Given the description of an element on the screen output the (x, y) to click on. 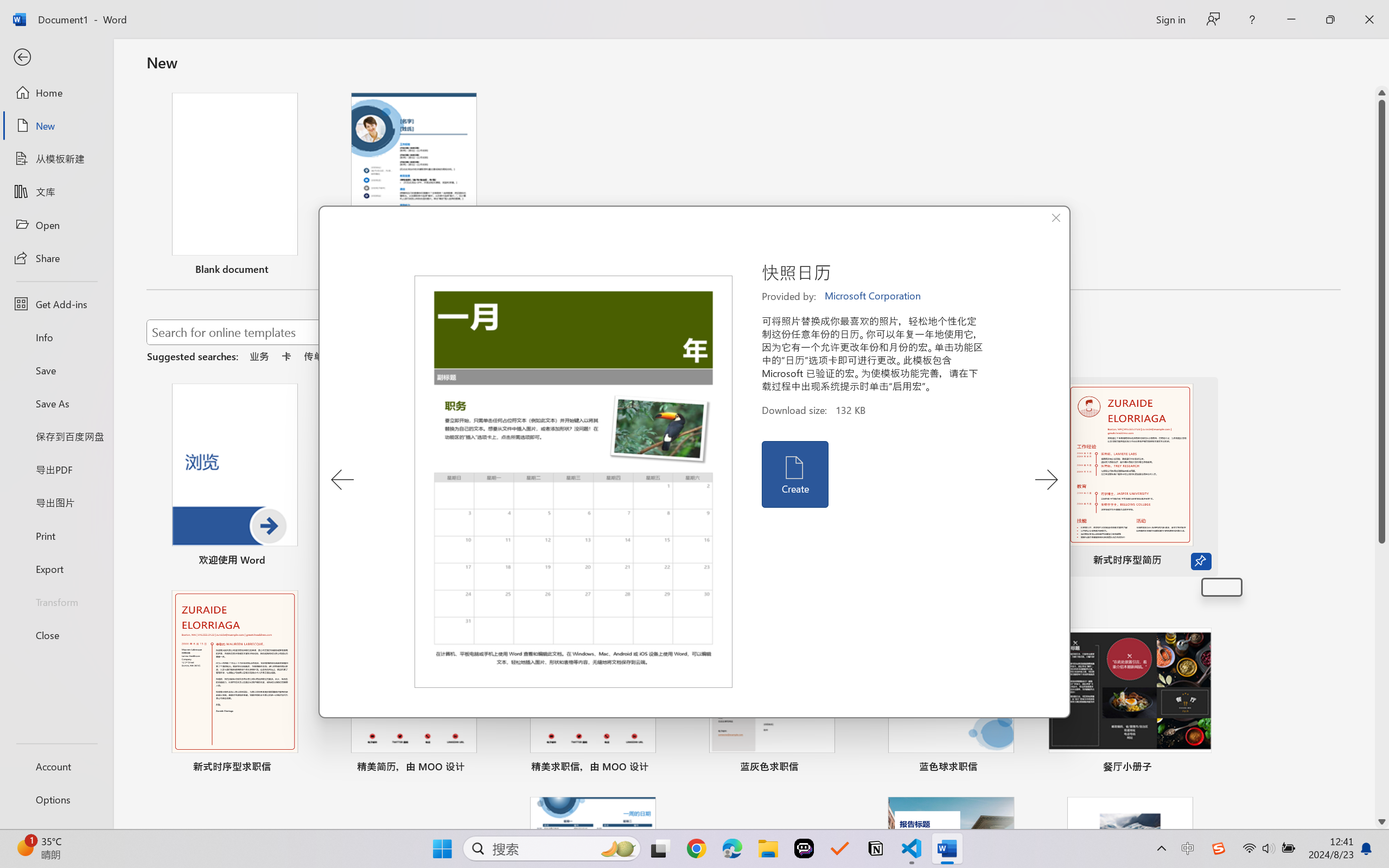
Create (794, 473)
Line up (1382, 92)
Save As (56, 403)
Next Template (1046, 479)
